Given the description of an element on the screen output the (x, y) to click on. 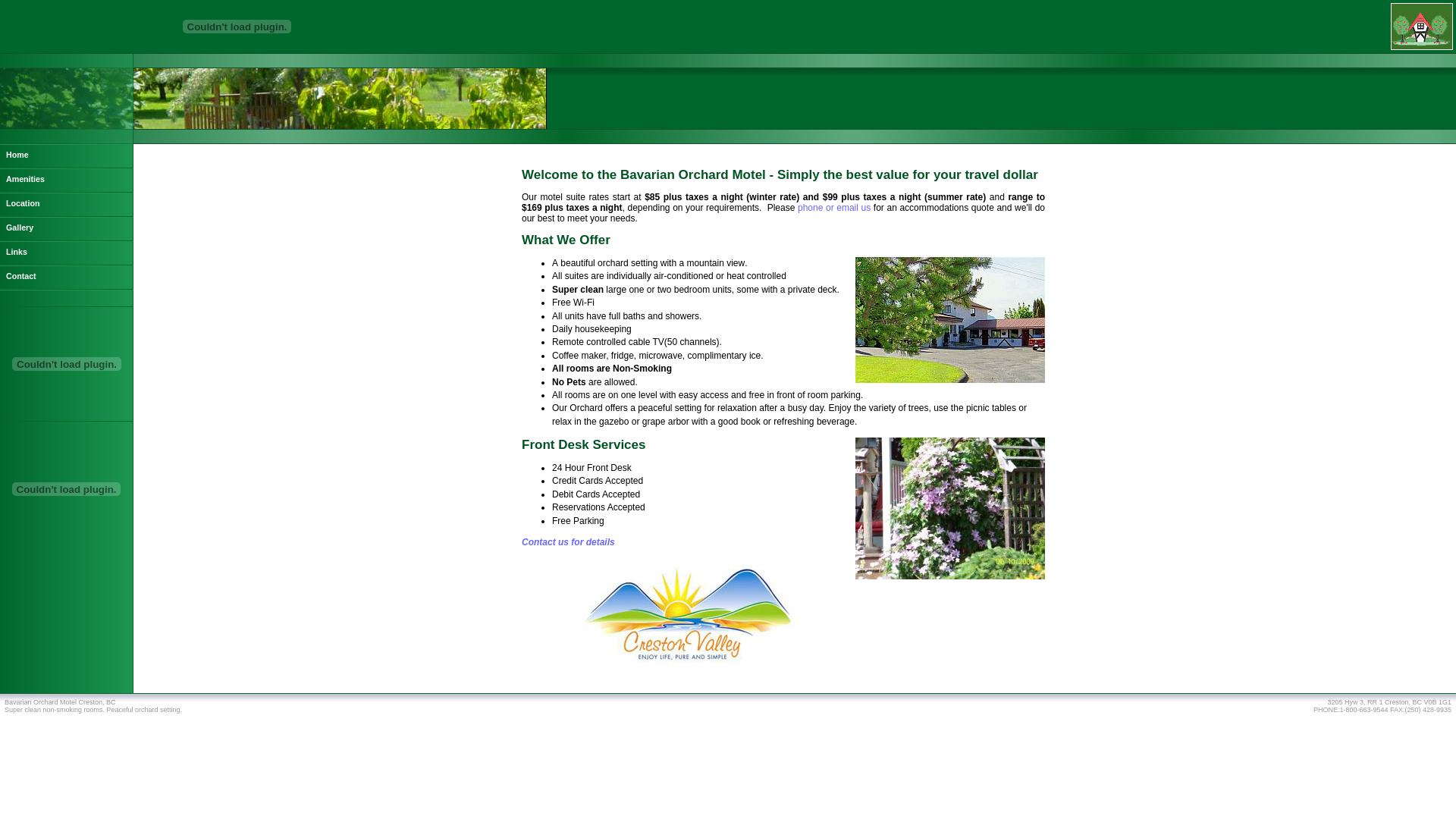
Links Element type: text (66, 253)
Contact us for details Element type: text (568, 541)
Home Element type: text (66, 156)
Amenities Element type: text (66, 180)
Contact Element type: text (66, 277)
phone or email us Element type: text (835, 207)
Gallery Element type: text (66, 228)
Location Element type: text (66, 204)
